Given the description of an element on the screen output the (x, y) to click on. 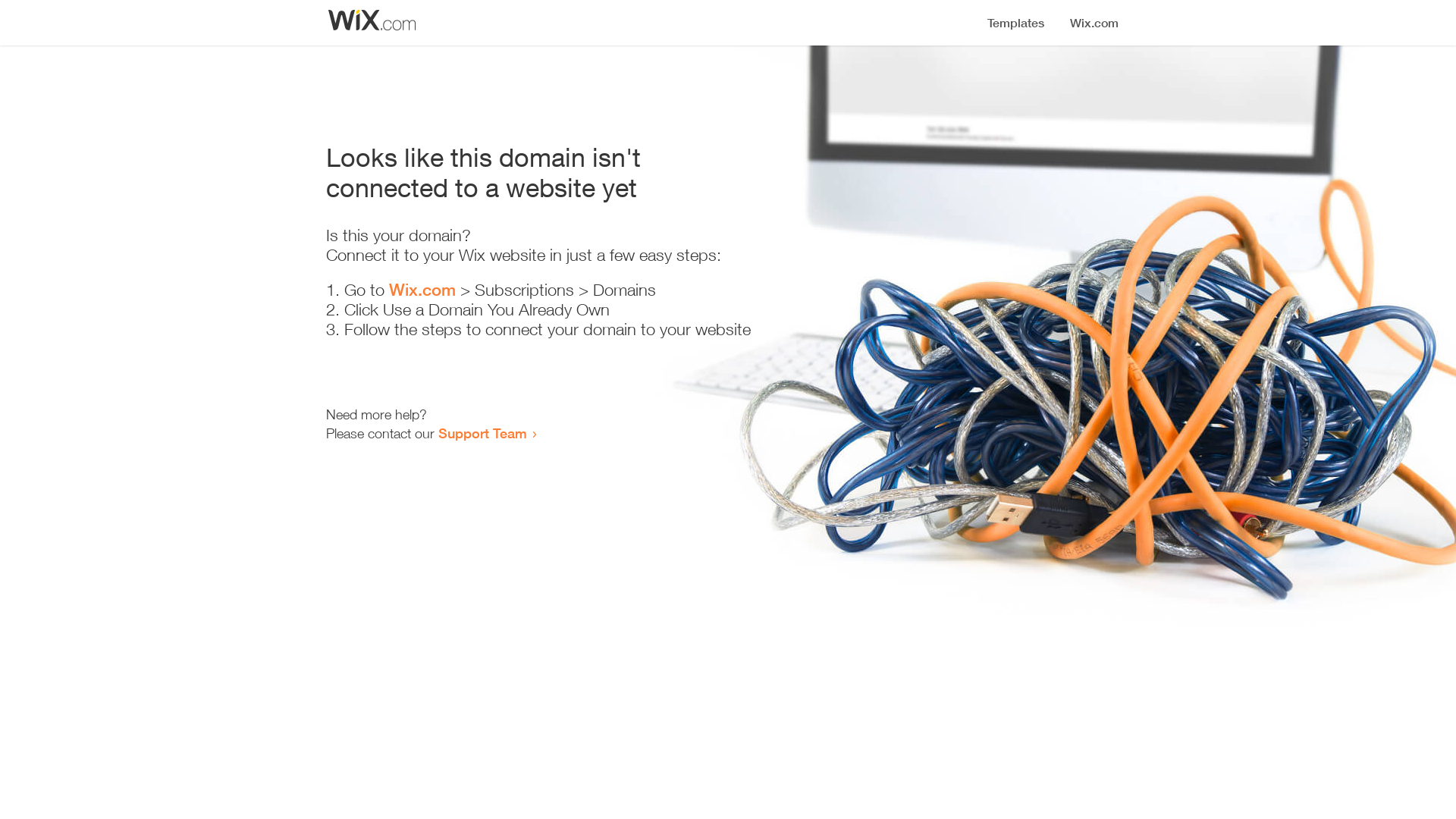
Wix.com Element type: text (422, 289)
Support Team Element type: text (482, 432)
